Given the description of an element on the screen output the (x, y) to click on. 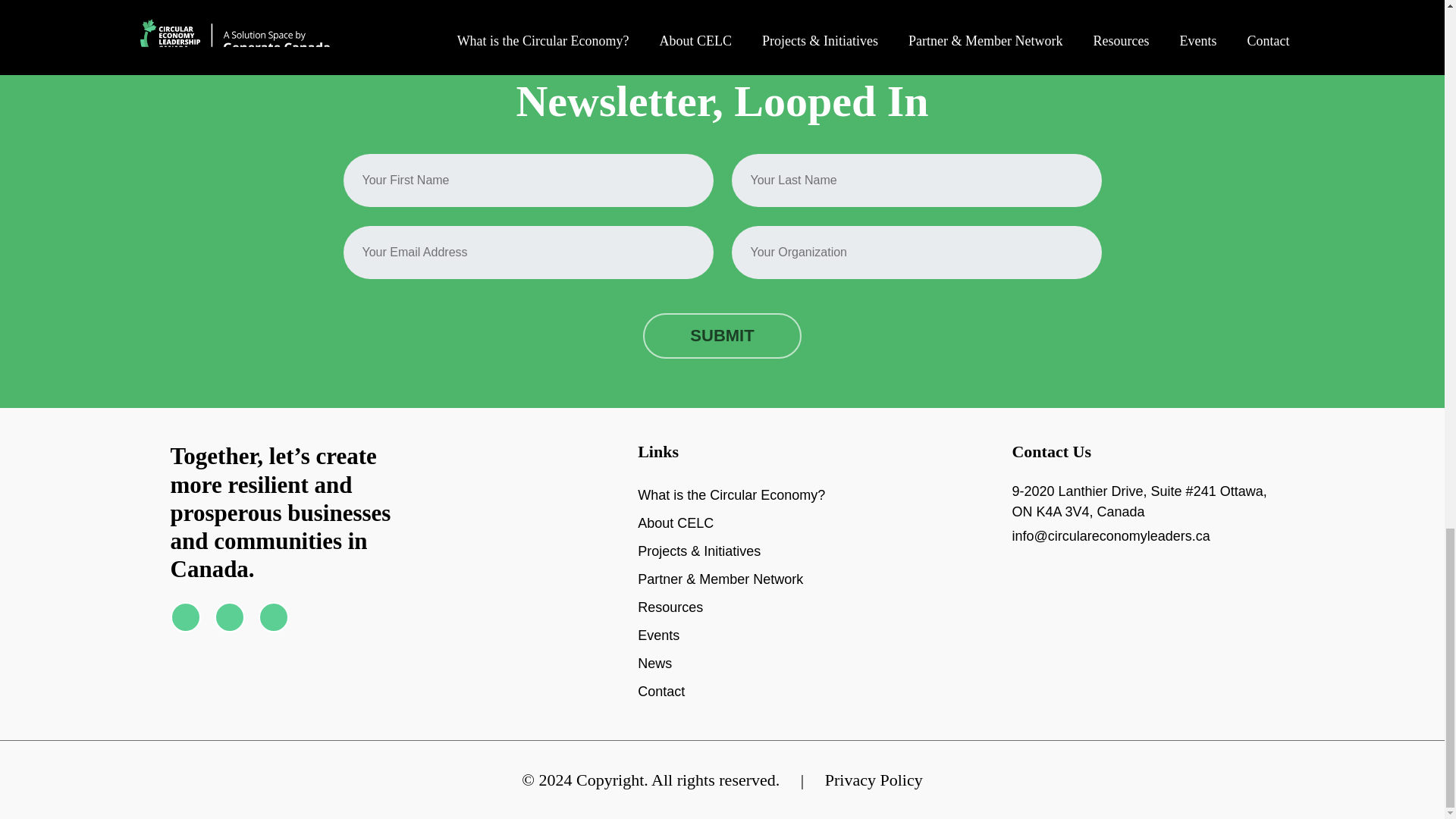
Submit (721, 335)
News (654, 664)
Resources (670, 607)
Submit (721, 335)
What is the Circular Economy? (731, 495)
Events (658, 635)
About CELC (675, 523)
Contact (660, 691)
Privacy Policy (874, 779)
